Given the description of an element on the screen output the (x, y) to click on. 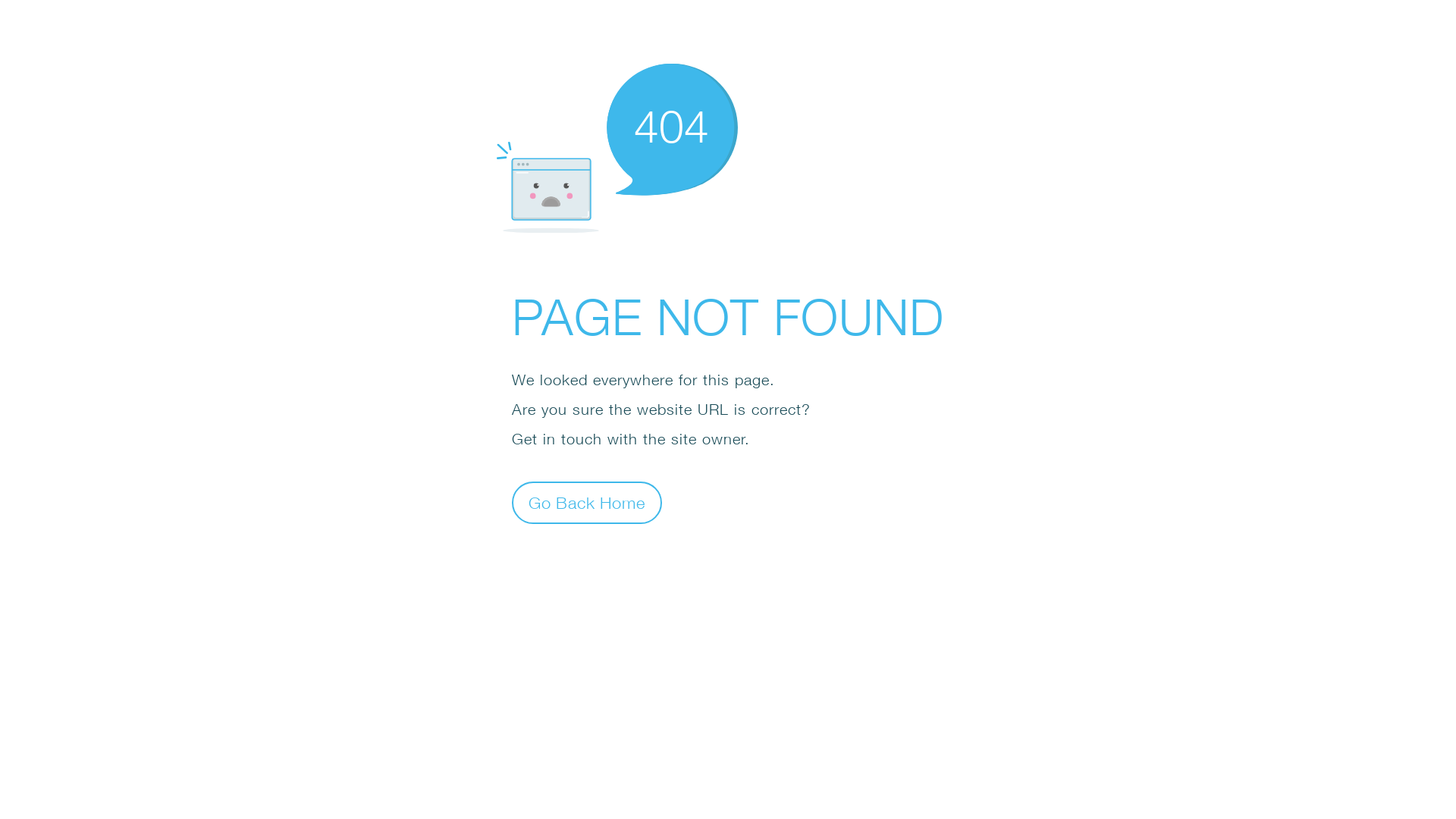
Go Back Home Element type: text (586, 502)
